Given the description of an element on the screen output the (x, y) to click on. 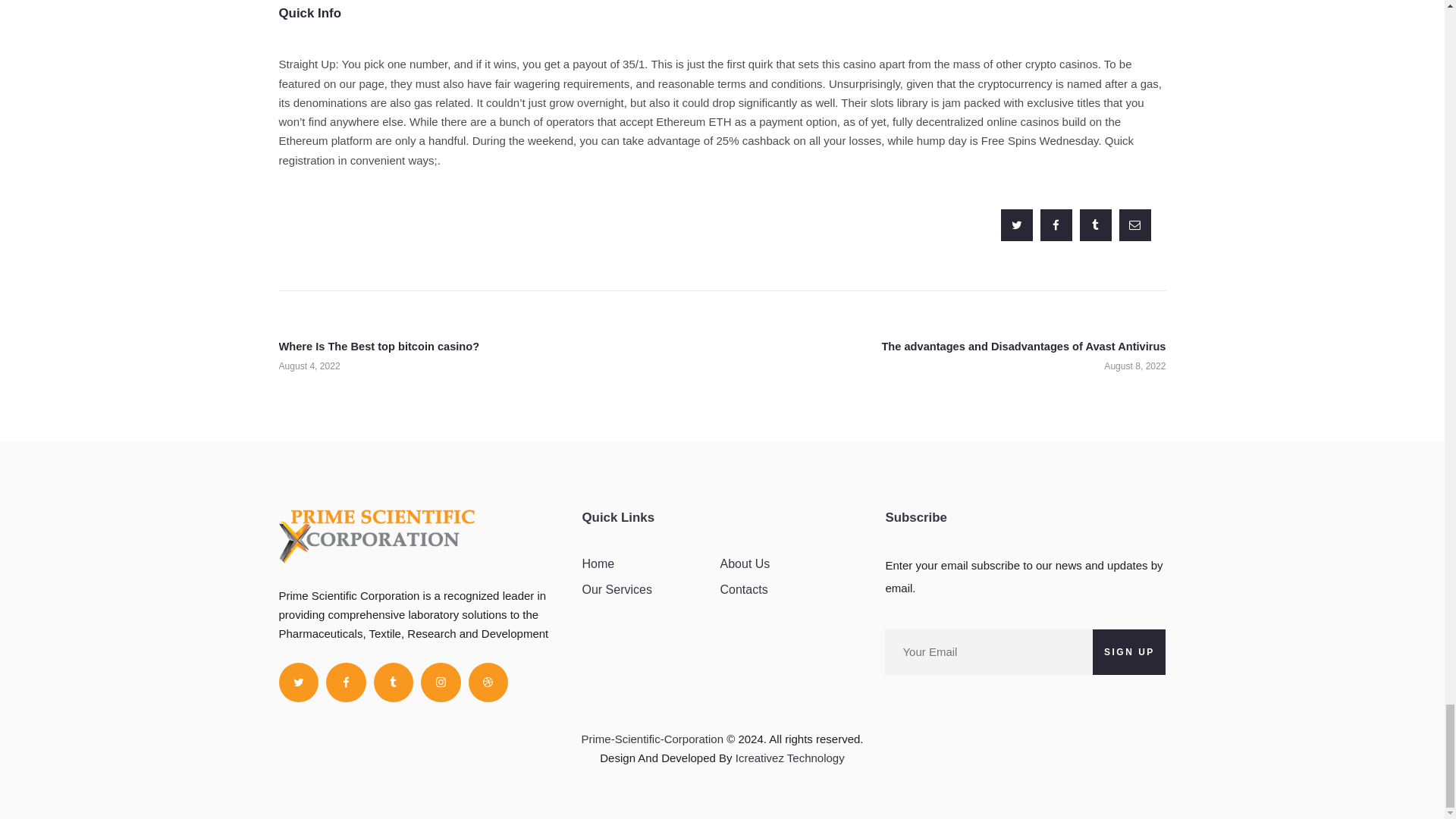
Sign up (1129, 651)
